Given the description of an element on the screen output the (x, y) to click on. 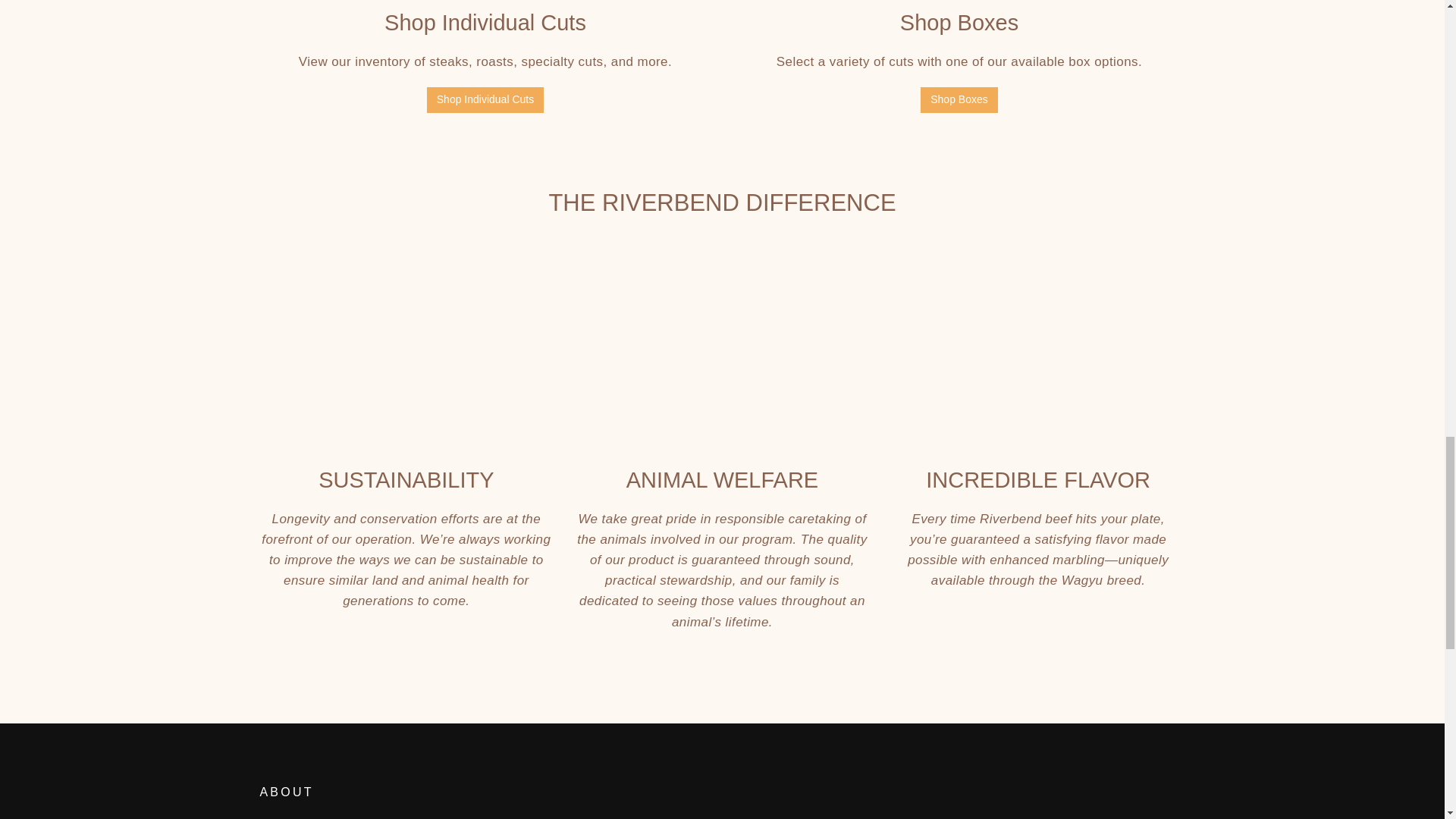
Shop Boxes (958, 99)
Shop Individual Cuts (484, 99)
